Given the description of an element on the screen output the (x, y) to click on. 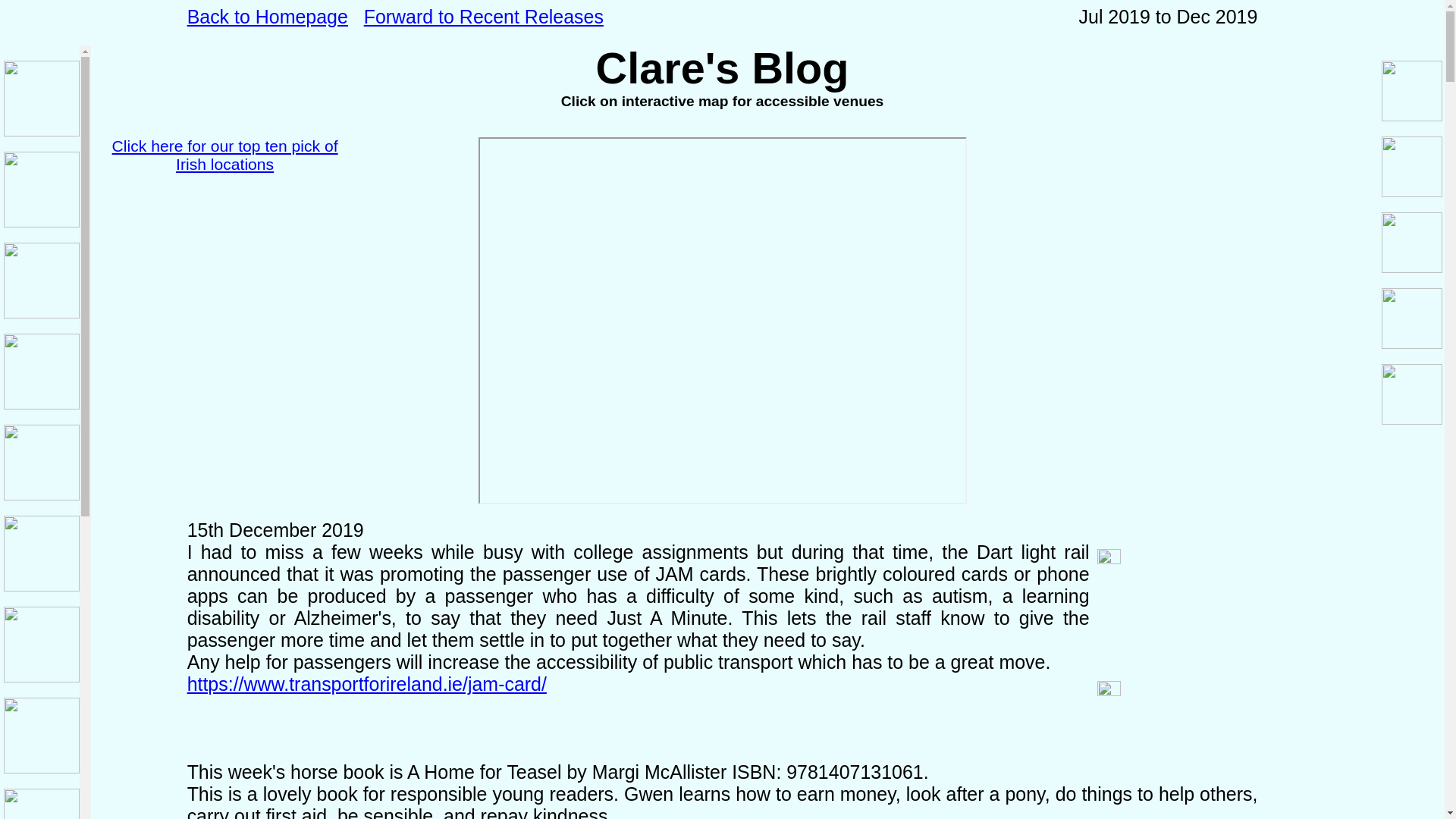
Forward to Recent Releases (484, 16)
Click here for our top ten pick of Irish locations (224, 154)
Back to Homepage (267, 16)
